Given the description of an element on the screen output the (x, y) to click on. 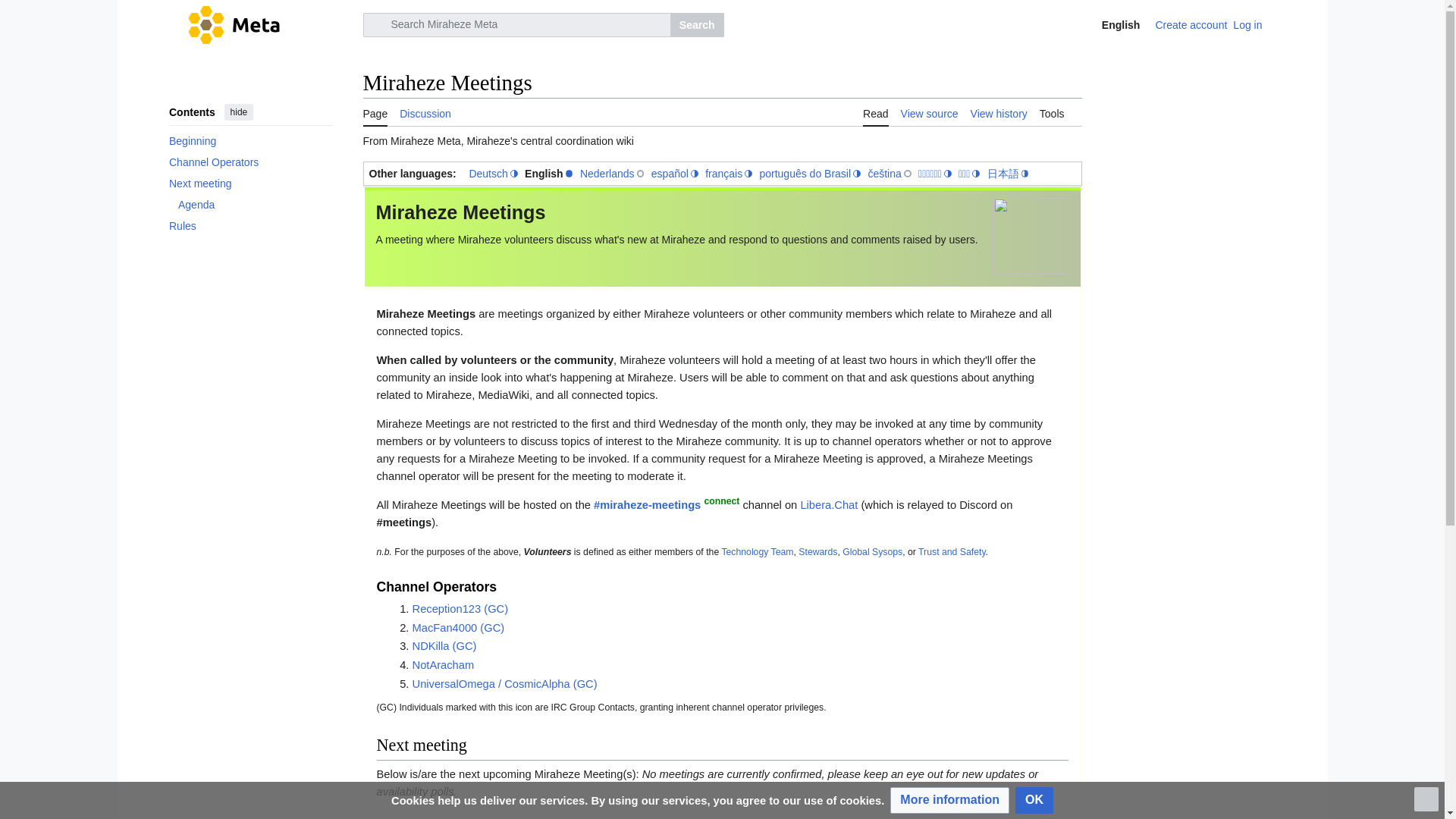
English (1110, 24)
Search (696, 24)
Channel Operators (249, 161)
Log in (1247, 24)
Create account (1190, 24)
More options (1280, 24)
Page (374, 112)
hide (238, 112)
Beginning (249, 140)
Rules (249, 225)
Agenda (254, 204)
Next meeting (249, 183)
Toggle Next meeting subsection (159, 181)
